Given the description of an element on the screen output the (x, y) to click on. 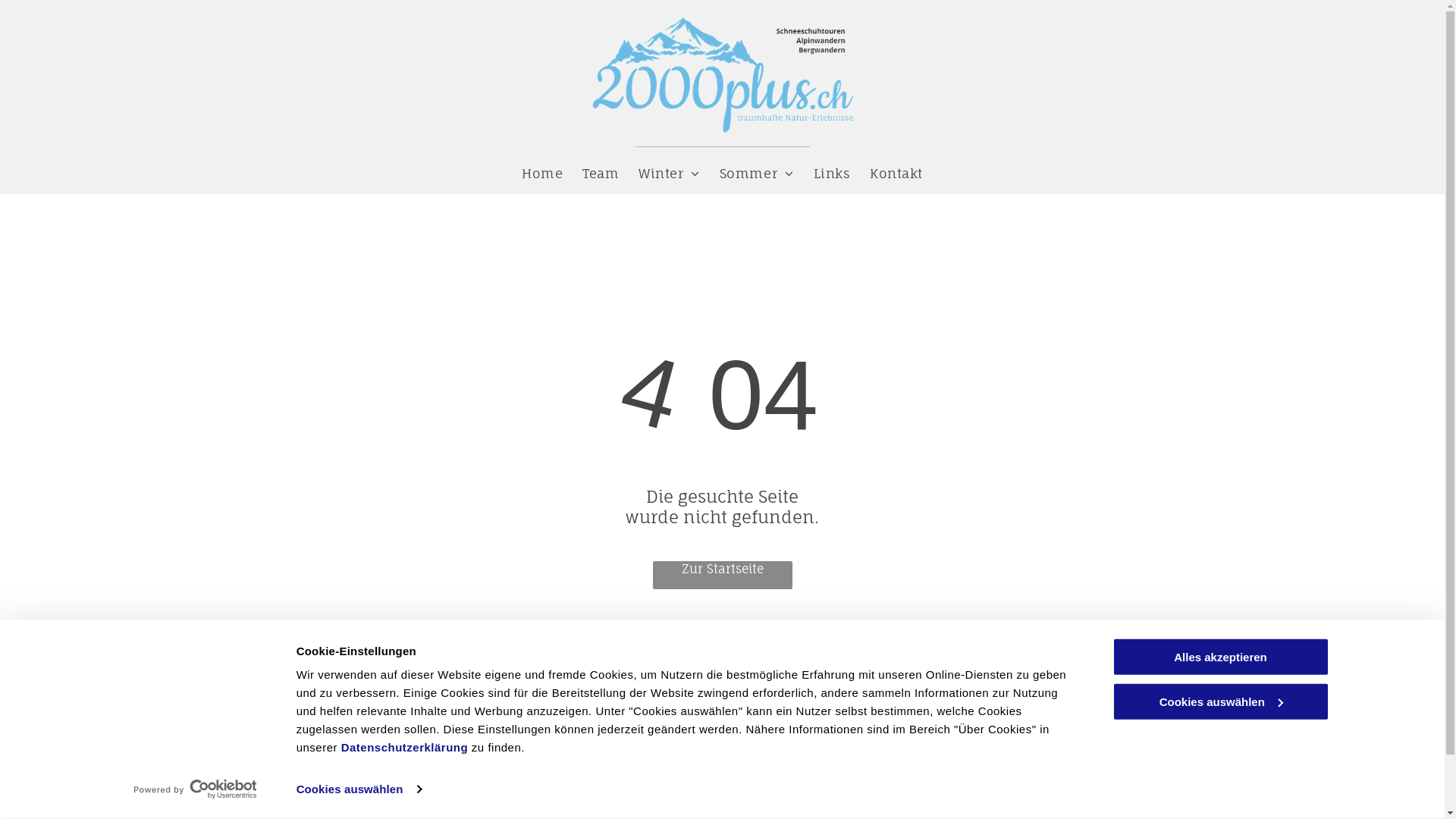
info@2000plus.ch Element type: text (564, 774)
Home Element type: text (541, 173)
Prospekt 2000plus.ch Element type: text (794, 728)
Winter Element type: text (668, 173)
Team Element type: text (600, 173)
Wetter Element type: text (750, 751)
Sommer Element type: text (756, 173)
Alles akzeptieren Element type: text (1219, 656)
Zur Startseite Element type: text (721, 575)
SAC Scala Element type: text (758, 774)
079 761 44 58 Element type: text (548, 728)
Impressum Element type: text (1137, 745)
Kontakt Element type: text (895, 173)
Links Element type: text (831, 173)
